Given the description of an element on the screen output the (x, y) to click on. 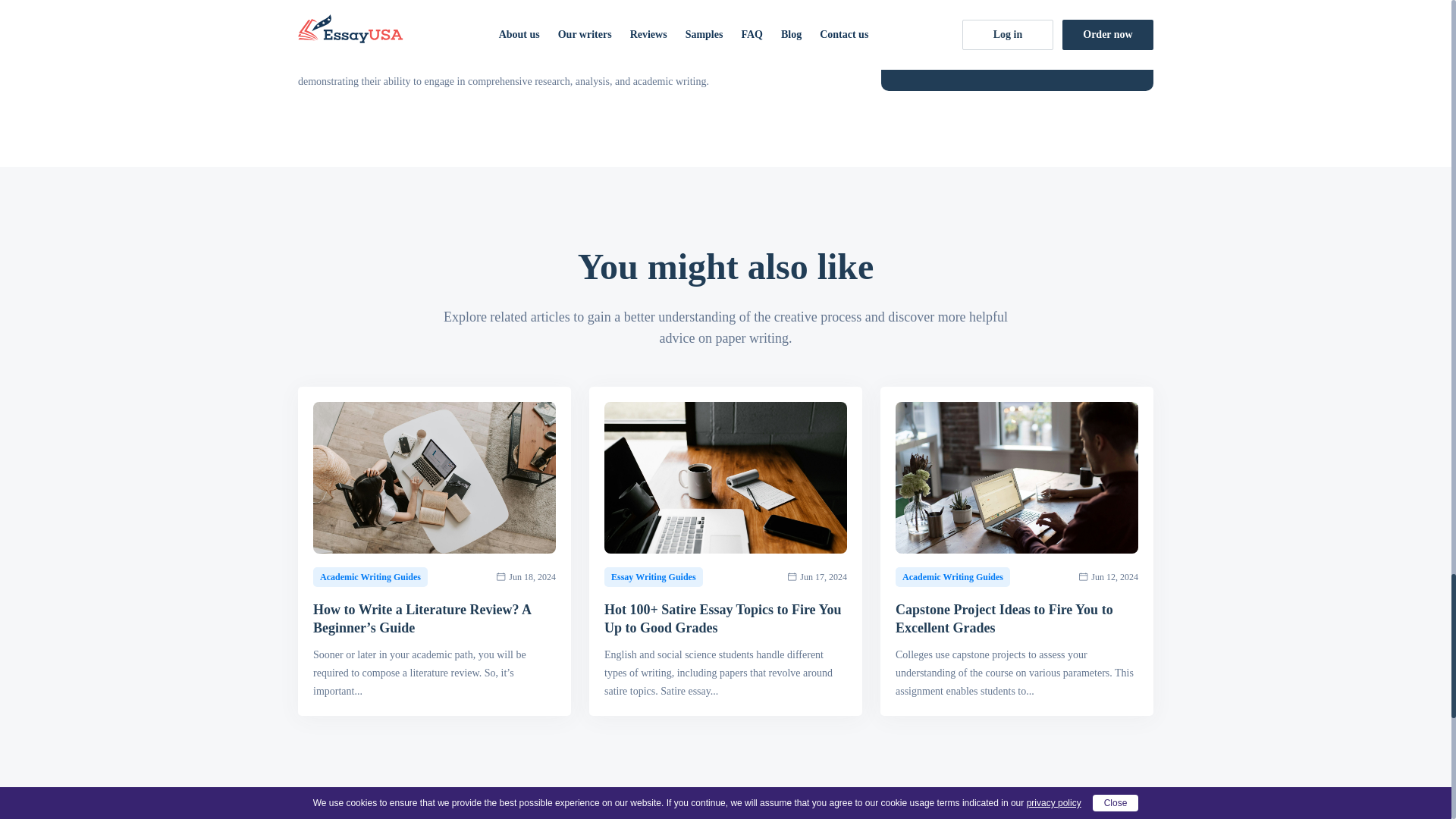
Capstone Project Ideas to Fire You to Excellent Grades (1016, 618)
